Given the description of an element on the screen output the (x, y) to click on. 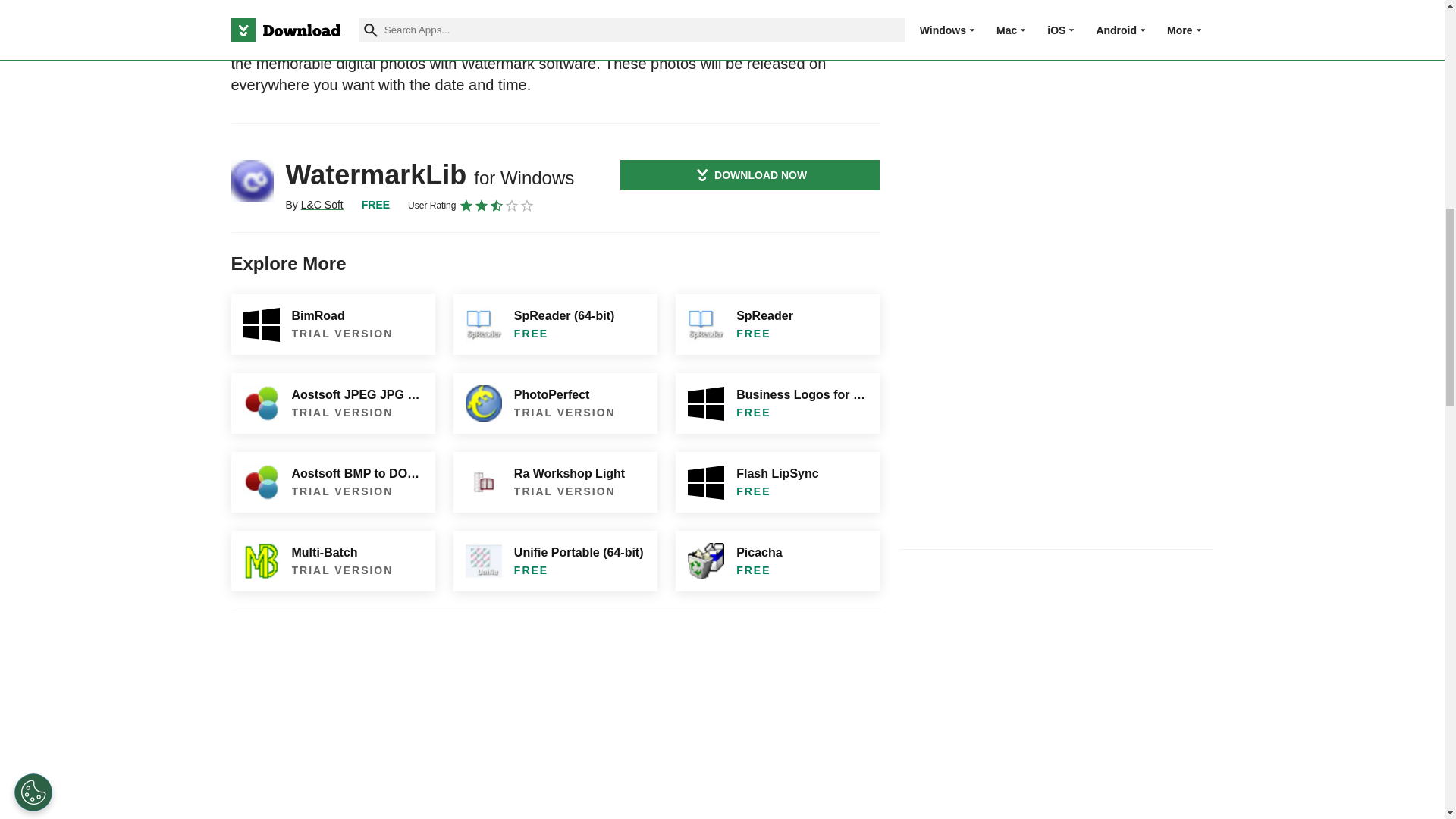
Multi-Batch (331, 560)
Aostsoft JPEG JPG to Text OCR Converter (331, 403)
PhotoPerfect (555, 403)
Flash LipSync (777, 482)
Business Logos for Company Logo Designer (777, 403)
Picacha (777, 560)
BimRoad (331, 324)
WatermarkLib for Windows (251, 180)
SpReader (777, 324)
Ra Workshop Light (555, 482)
Aostsoft BMP to DOC OCR Converter (331, 482)
